Given the description of an element on the screen output the (x, y) to click on. 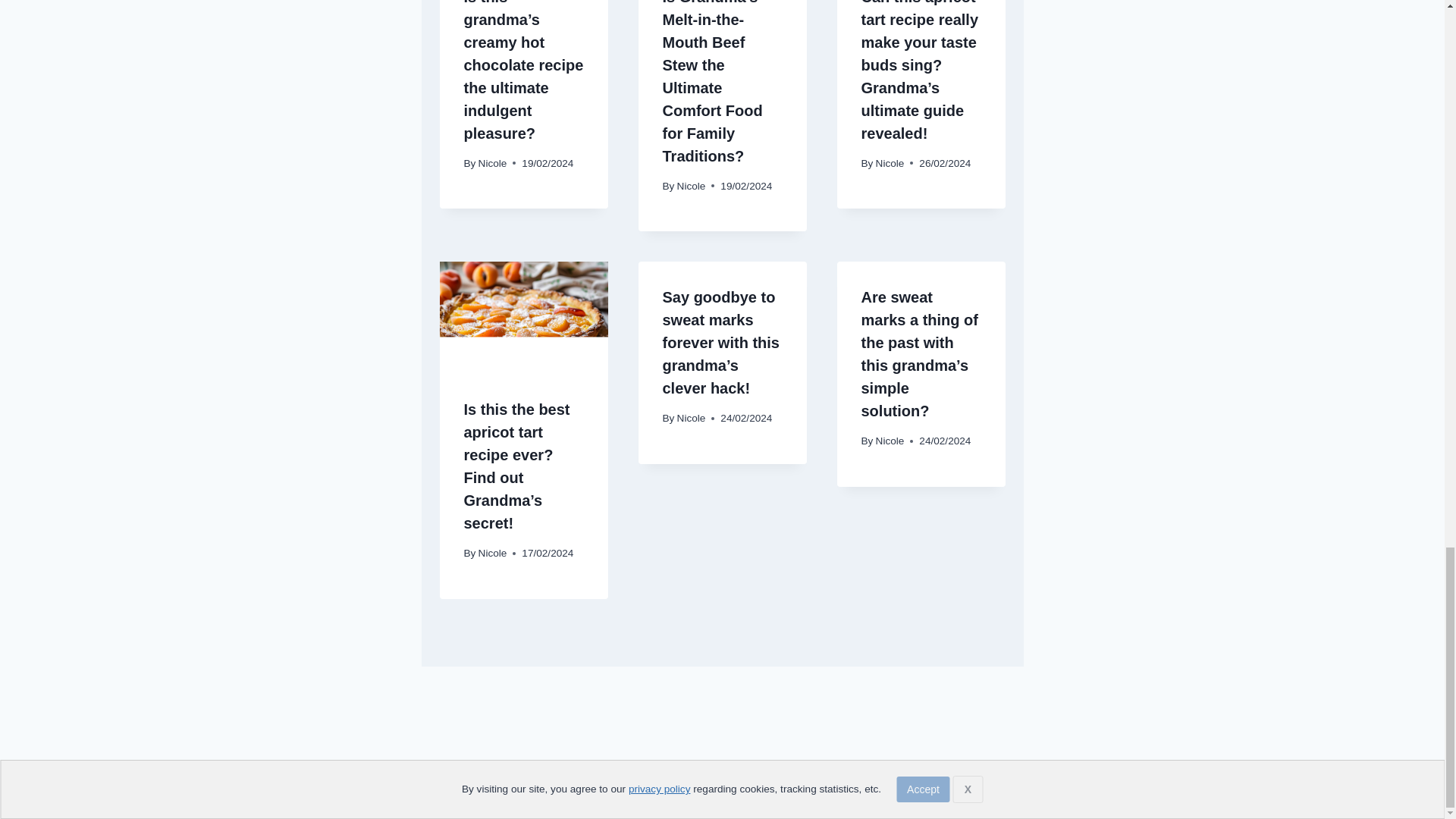
Nicole (691, 418)
Nicole (492, 163)
Nicole (890, 163)
Nicole (492, 552)
Nicole (691, 185)
